Given the description of an element on the screen output the (x, y) to click on. 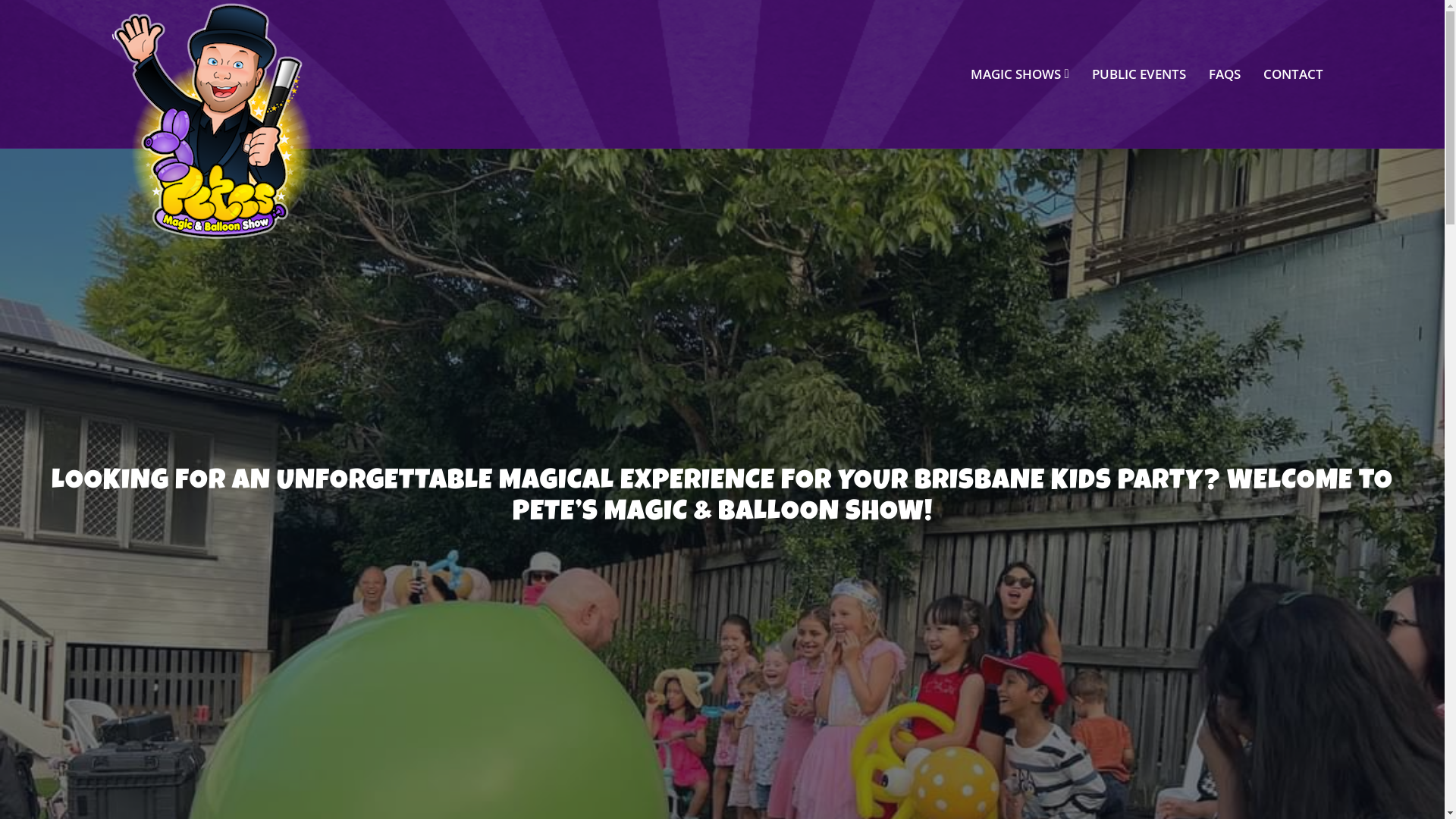
PUBLIC EVENTS Element type: text (1138, 73)
CONTACT Element type: text (1293, 73)
MAGIC SHOWS Element type: text (1019, 73)
FAQS Element type: text (1224, 73)
